Given the description of an element on the screen output the (x, y) to click on. 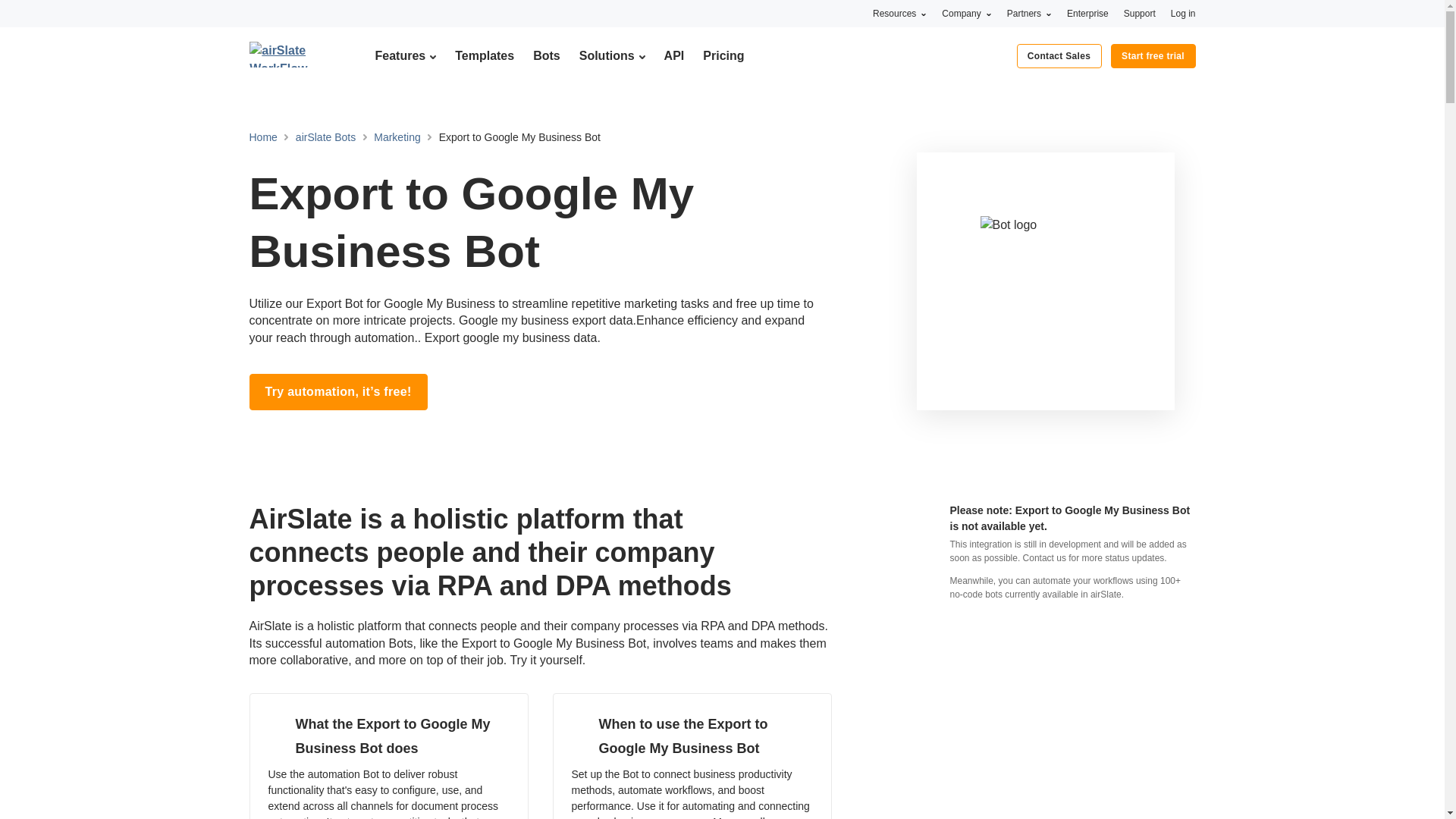
Templates (483, 55)
Company (966, 13)
Partners (1029, 13)
Resources (899, 13)
Log in (1182, 13)
Support (1140, 13)
Enterprise (1087, 13)
